Given the description of an element on the screen output the (x, y) to click on. 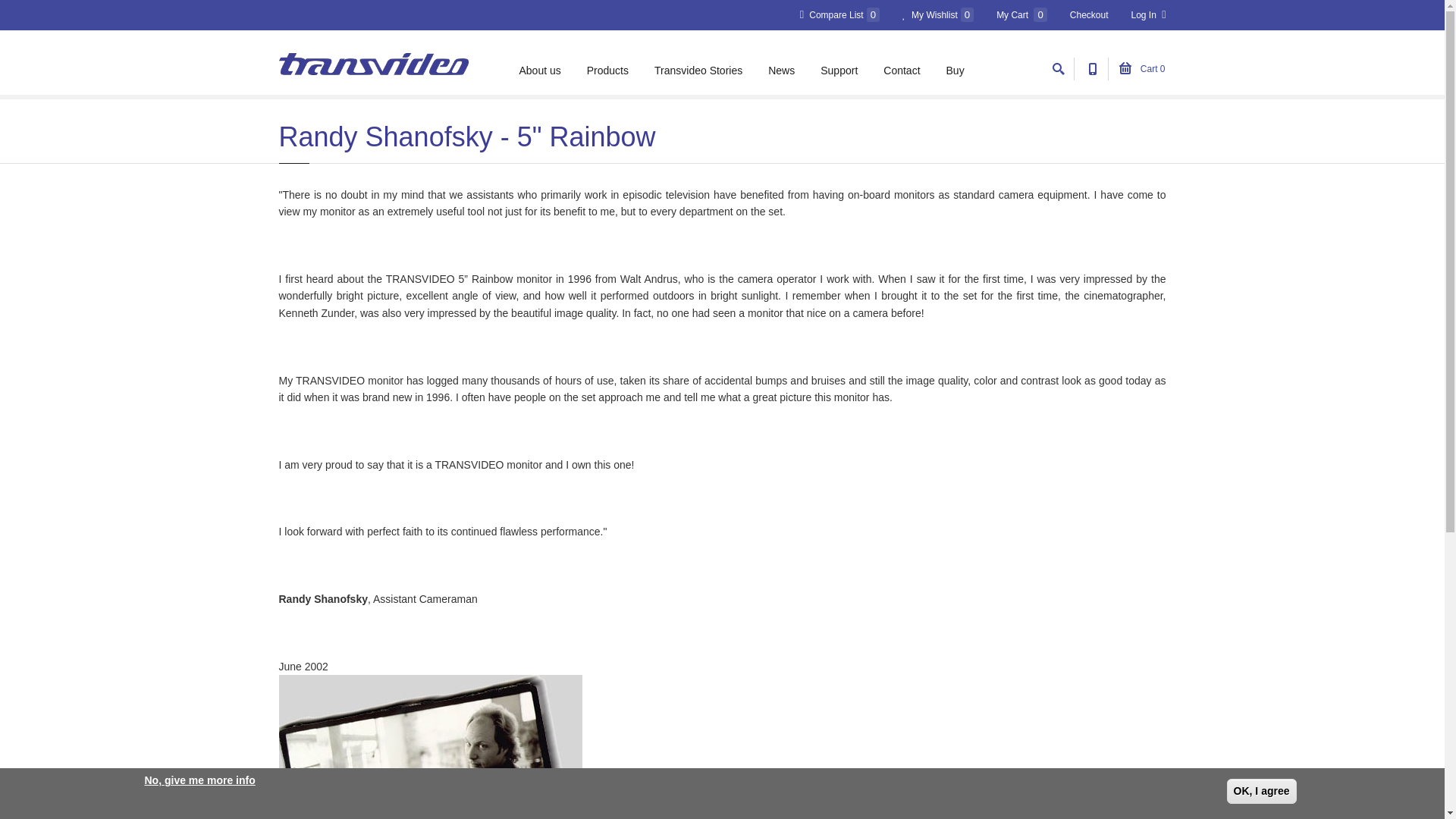
Products (607, 70)
News (781, 70)
About us (539, 70)
Products (607, 70)
Cart 0 (1141, 68)
Support (838, 70)
My Cart 0 (1021, 15)
Compare List0 (840, 15)
About us (539, 70)
Checkout (1088, 15)
My Wishlist0 (938, 15)
Transvideo Stories (697, 70)
Log In (1148, 15)
